Given the description of an element on the screen output the (x, y) to click on. 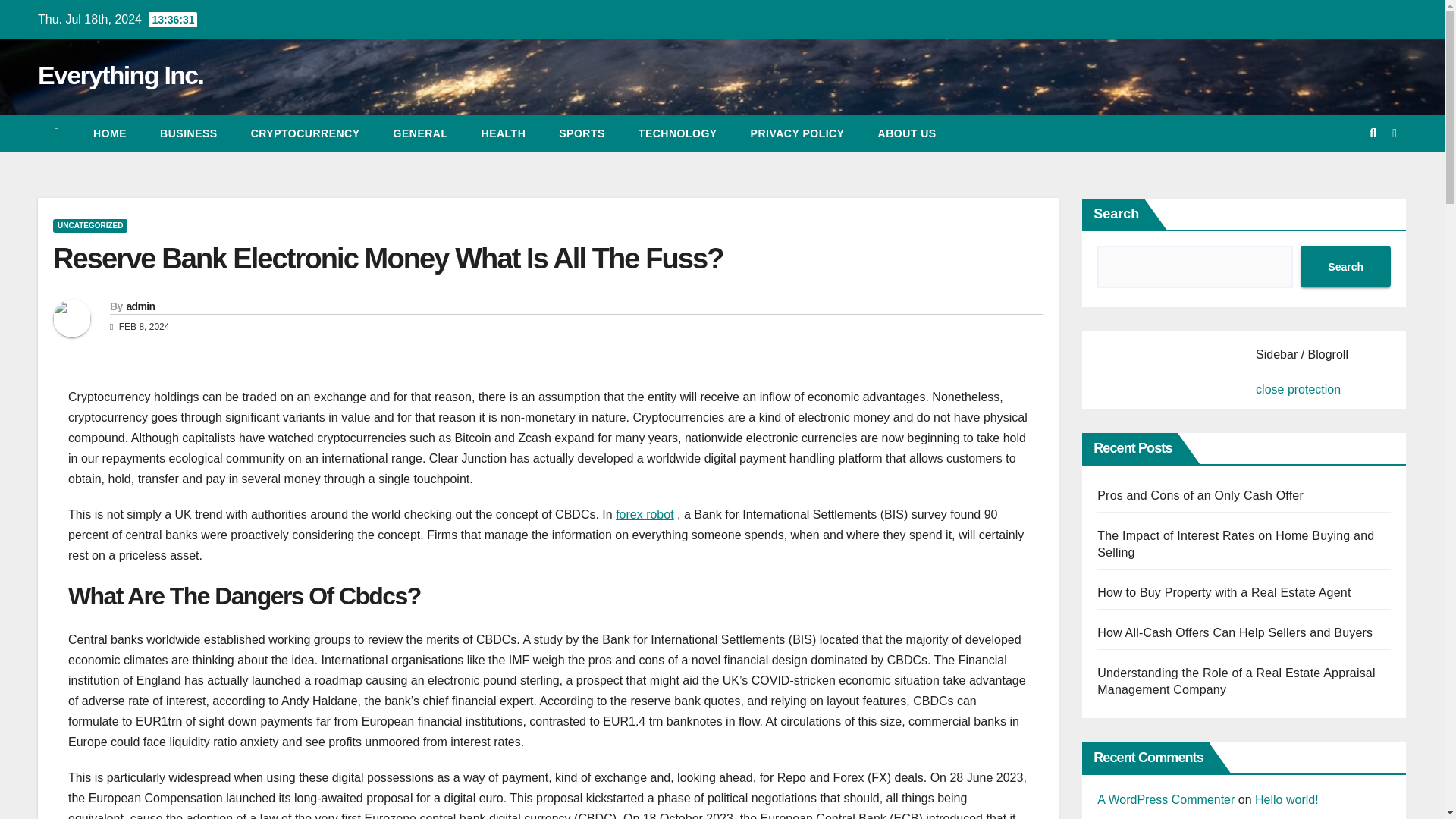
Health (503, 133)
HEALTH (503, 133)
UNCATEGORIZED (90, 225)
General (420, 133)
About Us (907, 133)
forex robot (643, 513)
Privacy Policy (797, 133)
ABOUT US (907, 133)
Sports (581, 133)
TECHNOLOGY (677, 133)
HOME (109, 133)
Everything Inc. (120, 74)
Cryptocurrency (305, 133)
BUSINESS (188, 133)
